Given the description of an element on the screen output the (x, y) to click on. 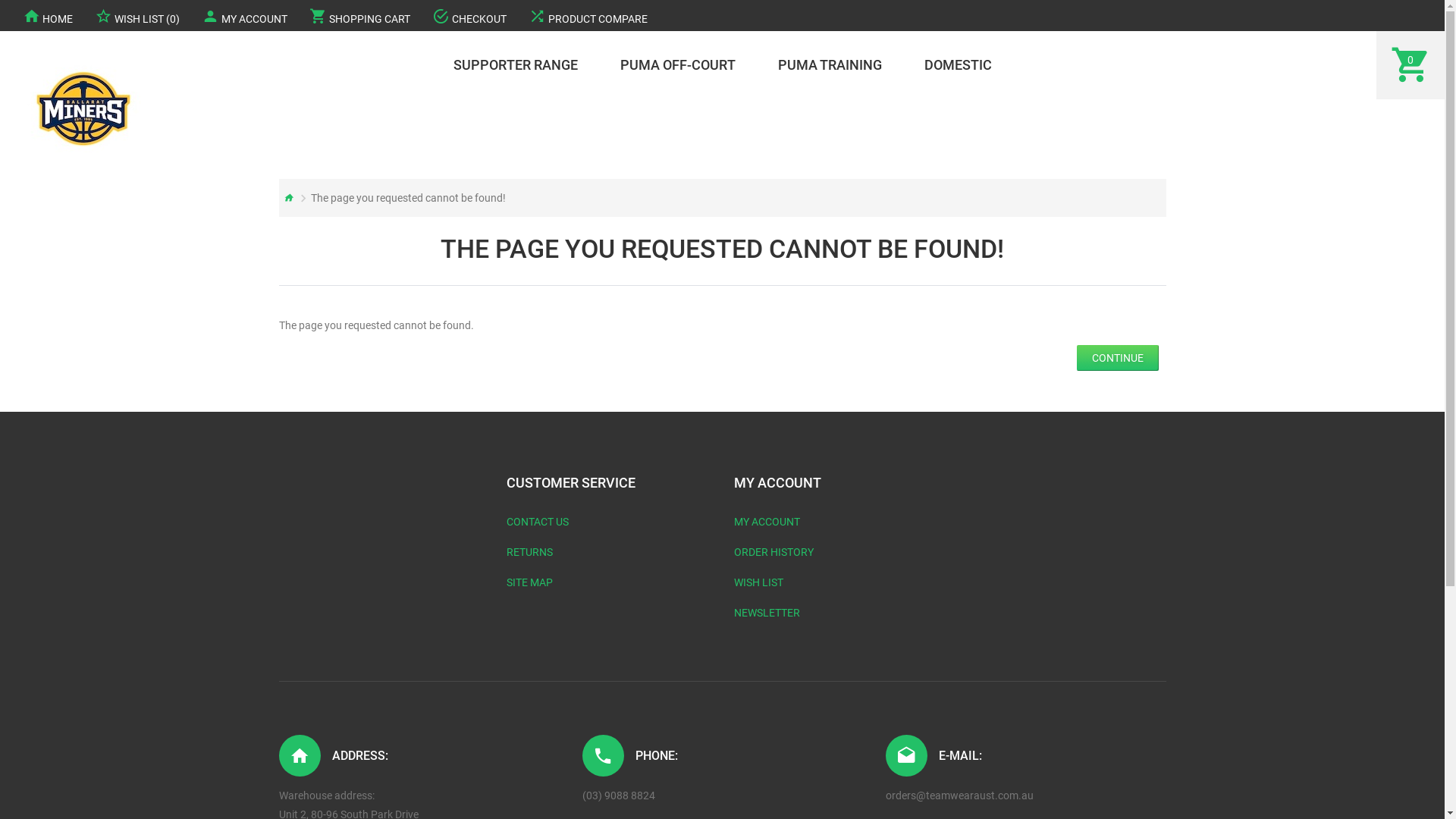
RETURNS Element type: text (529, 551)
SUPPORTER RANGE Element type: text (515, 65)
CHECKOUT Element type: text (468, 15)
WISH LIST (0) Element type: text (137, 15)
orders@teamwearaust.com.au Element type: text (959, 795)
Ballarat Basketball  Element type: hover (82, 108)
(03) 9088 8824 Element type: text (618, 795)
SHOPPING CART Element type: text (359, 15)
ORDER HISTORY Element type: text (773, 551)
DOMESTIC Element type: text (957, 65)
CONTACT US Element type: text (537, 521)
HOME Element type: text (47, 15)
MY ACCOUNT Element type: text (767, 521)
CONTINUE Element type: text (1117, 357)
0 Element type: text (1410, 65)
PUMA OFF-COURT Element type: text (677, 65)
NEWSLETTER Element type: text (767, 612)
MY ACCOUNT Element type: text (244, 15)
PUMA TRAINING Element type: text (829, 65)
WISH LIST Element type: text (758, 582)
PRODUCT COMPARE Element type: text (587, 15)
SITE MAP Element type: text (529, 582)
